Given the description of an element on the screen output the (x, y) to click on. 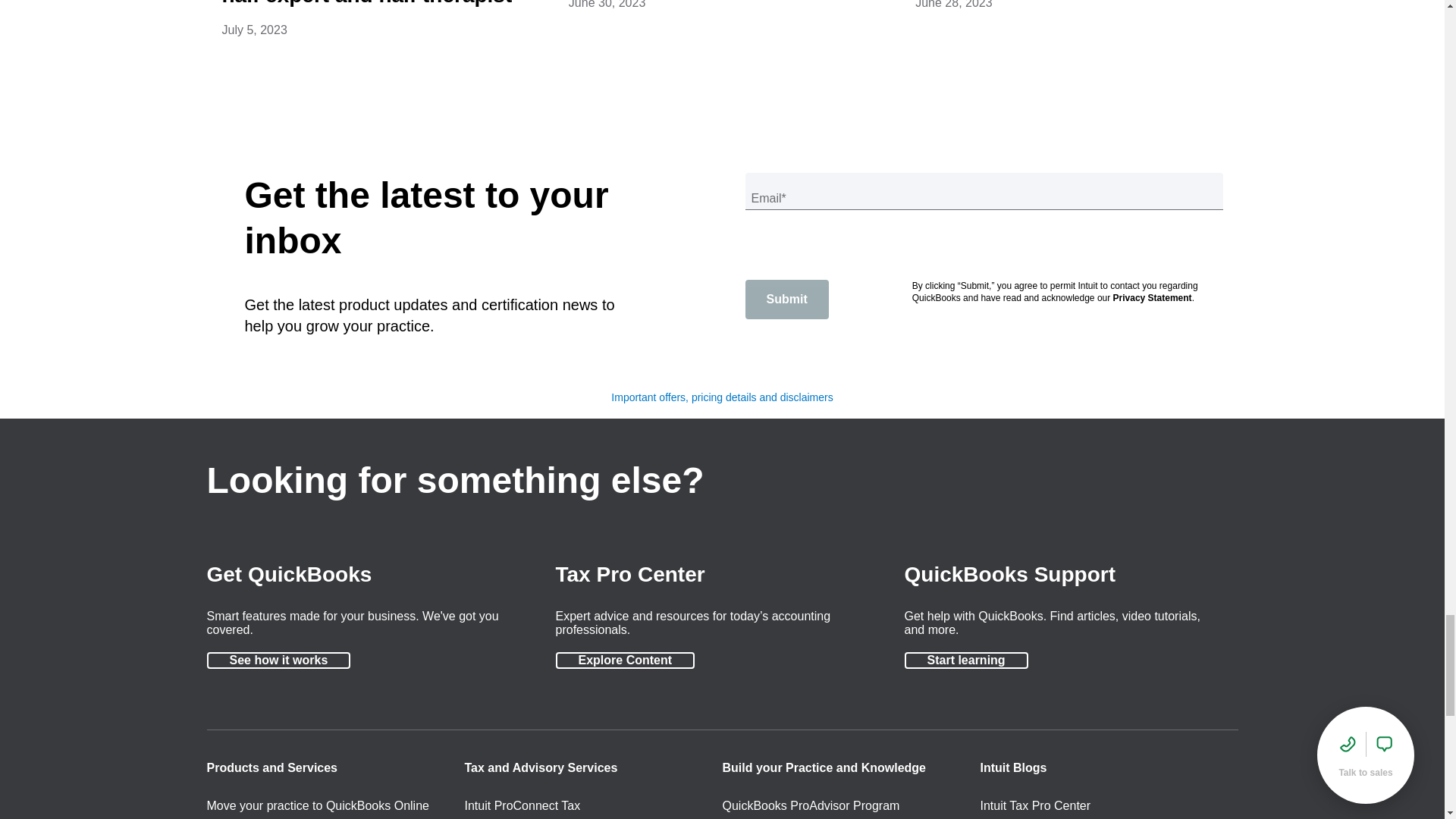
Submit (786, 299)
